Given the description of an element on the screen output the (x, y) to click on. 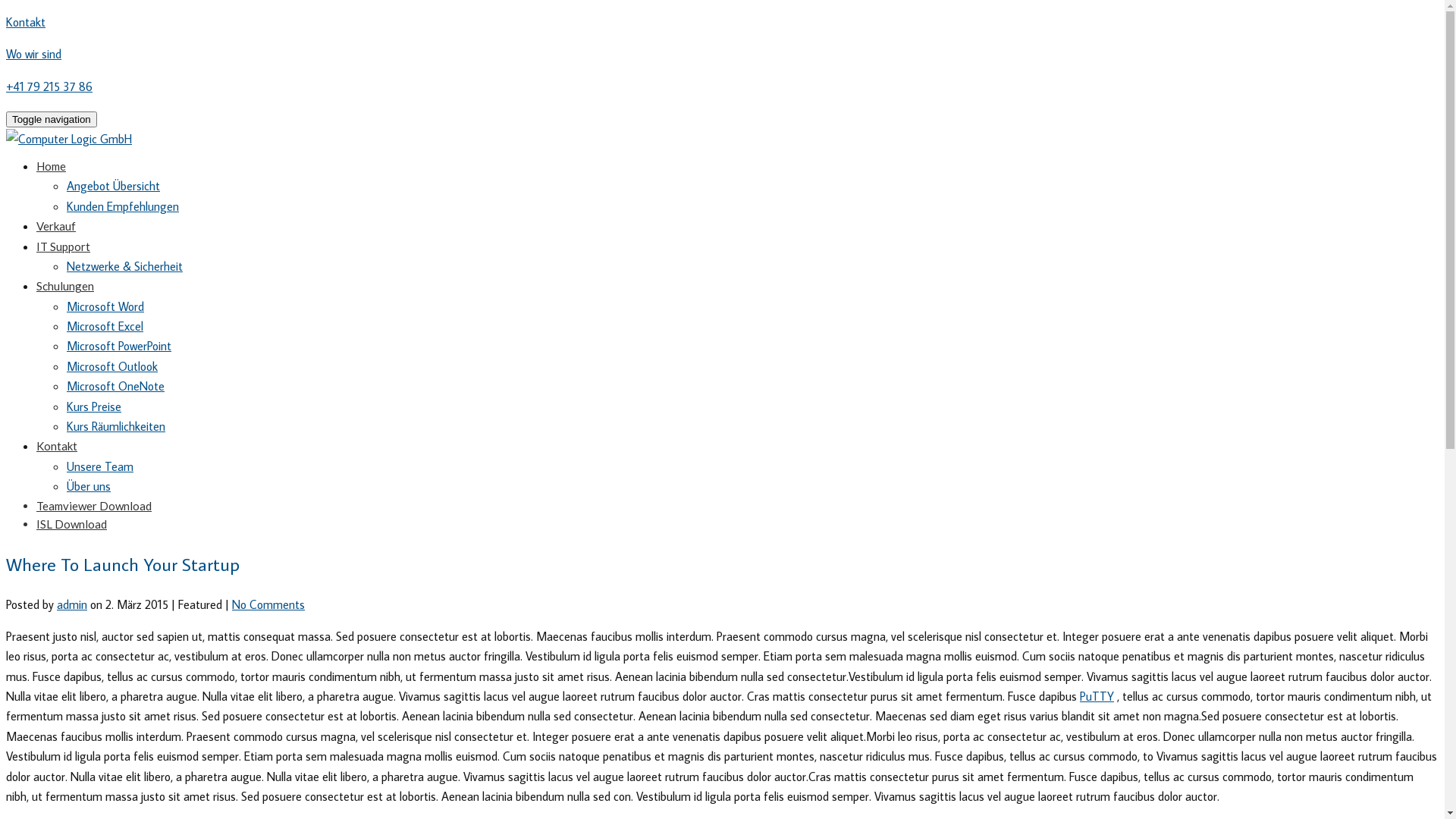
PuTTY Element type: text (1096, 695)
Kunden Empfehlungen Element type: text (122, 205)
+41 79 215 37 86 Element type: text (49, 86)
Microsoft Word Element type: text (105, 305)
Verkauf Element type: text (55, 225)
admin Element type: text (71, 603)
Toggle navigation Element type: text (51, 119)
Netzwerke & Sicherheit Element type: text (124, 265)
Microsoft Outlook Element type: text (111, 365)
Microsoft PowerPoint Element type: text (118, 345)
Teamviewer Download Element type: text (93, 505)
No Comments Element type: text (268, 603)
Home Element type: text (50, 165)
Schulungen Element type: text (65, 285)
Kontakt Element type: text (56, 445)
Unsere Team Element type: text (99, 465)
IT Support Element type: text (63, 246)
Microsoft Excel Element type: text (104, 325)
ISL Download Element type: text (71, 523)
Kurs Preise Element type: text (93, 406)
Microsoft OneNote Element type: text (115, 385)
Kontakt Element type: text (25, 21)
Wo wir sind Element type: text (33, 53)
